Given the description of an element on the screen output the (x, y) to click on. 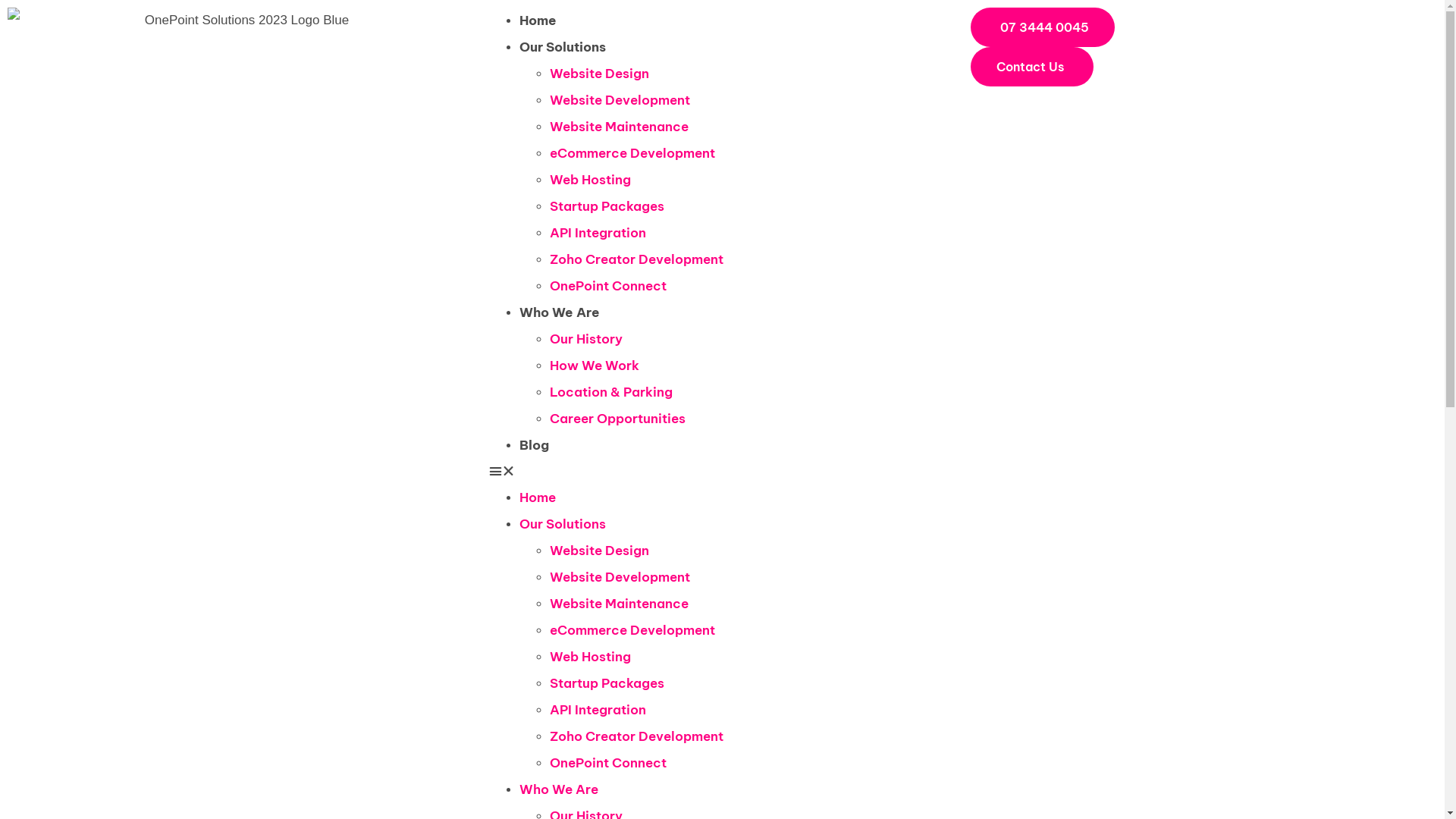
Startup Packages Element type: text (606, 205)
Home Element type: text (537, 497)
API Integration Element type: text (597, 232)
Website Development Element type: text (619, 99)
Who We Are Element type: text (558, 789)
Website Maintenance Element type: text (618, 603)
Website Design Element type: text (599, 550)
eCommerce Development Element type: text (632, 629)
Website Maintenance Element type: text (618, 126)
Contact Us Element type: text (1031, 66)
How We Work Element type: text (594, 365)
Location & Parking Element type: text (610, 391)
07 3444 0045 Element type: text (1042, 27)
Who We Are Element type: text (559, 312)
Blog Element type: text (534, 444)
Website Design Element type: text (599, 73)
Career Opportunities Element type: text (617, 418)
Home Element type: text (537, 20)
API Integration Element type: text (597, 709)
Web Hosting Element type: text (589, 656)
OnePoint Connect Element type: text (607, 762)
Website Development Element type: text (619, 576)
Startup Packages Element type: text (606, 682)
Web Hosting Element type: text (589, 179)
Our Solutions Element type: text (562, 46)
Our History Element type: text (585, 338)
Zoho Creator Development Element type: text (636, 736)
OnePoint Connect Element type: text (607, 285)
eCommerce Development Element type: text (632, 152)
Our Solutions Element type: text (562, 523)
Zoho Creator Development Element type: text (636, 259)
